Given the description of an element on the screen output the (x, y) to click on. 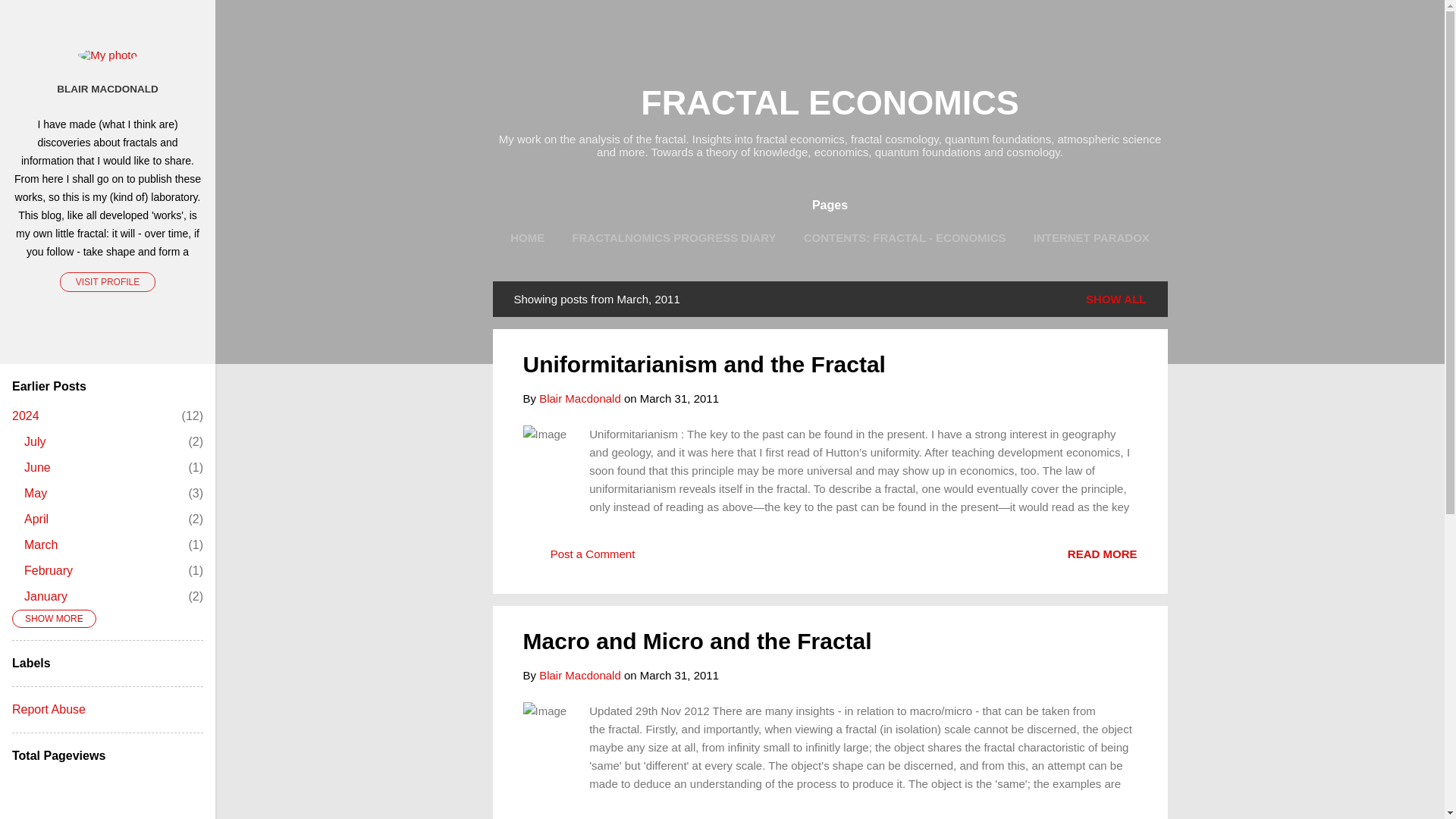
Post a Comment (578, 558)
Blair Macdonald (579, 398)
March 31, 2011 (679, 398)
permanent link (679, 398)
CONTENTS: FRACTAL - ECONOMICS (904, 237)
Search (29, 18)
March 31, 2011 (679, 675)
Macro and Micro and the Fractal (697, 640)
author profile (579, 675)
FAVOURITE REFERENCES (963, 269)
